Given the description of an element on the screen output the (x, y) to click on. 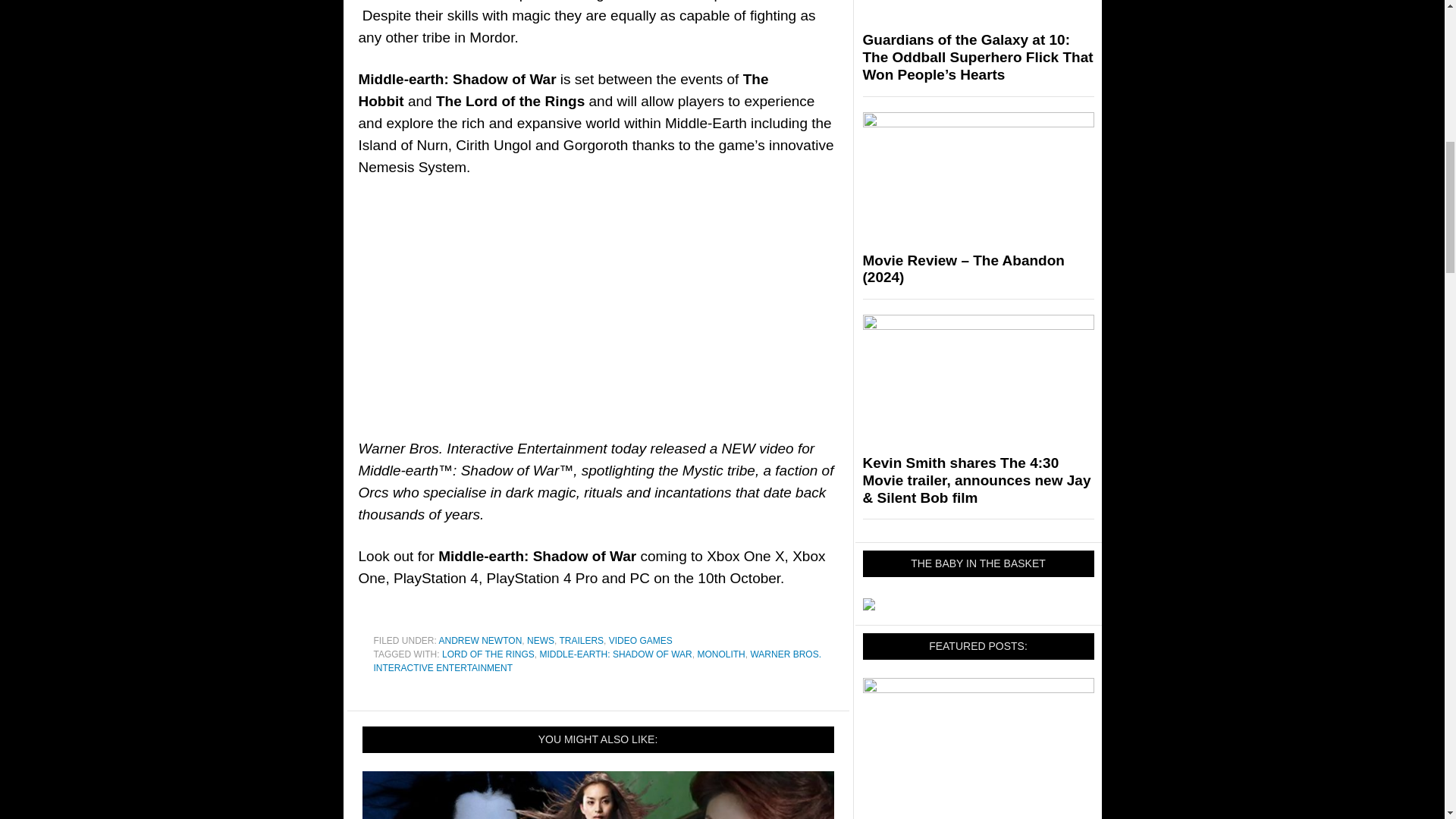
ANDREW NEWTON (480, 640)
NEWS (540, 640)
TRAILERS (581, 640)
